Given the description of an element on the screen output the (x, y) to click on. 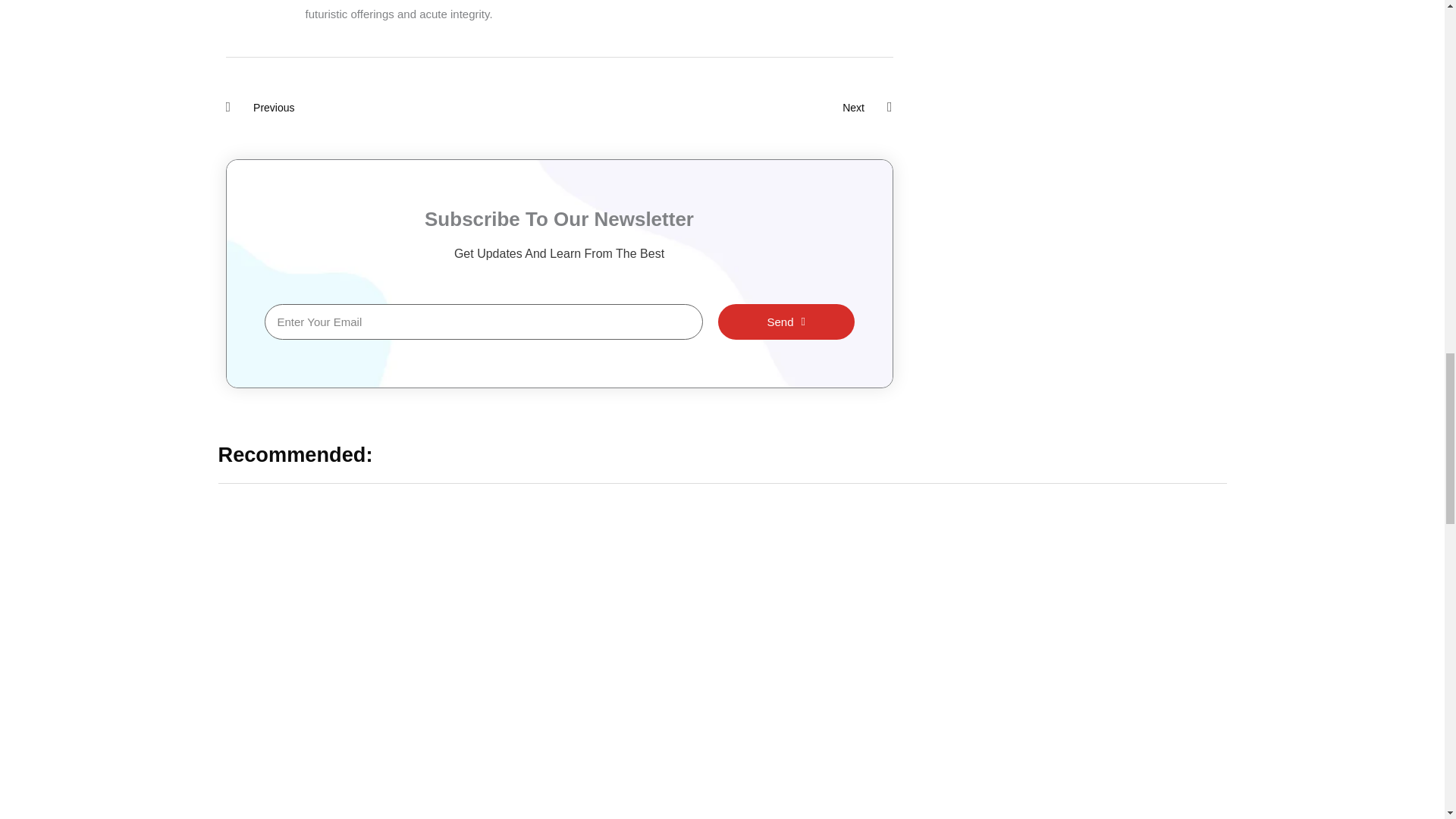
Send (785, 321)
